Given the description of an element on the screen output the (x, y) to click on. 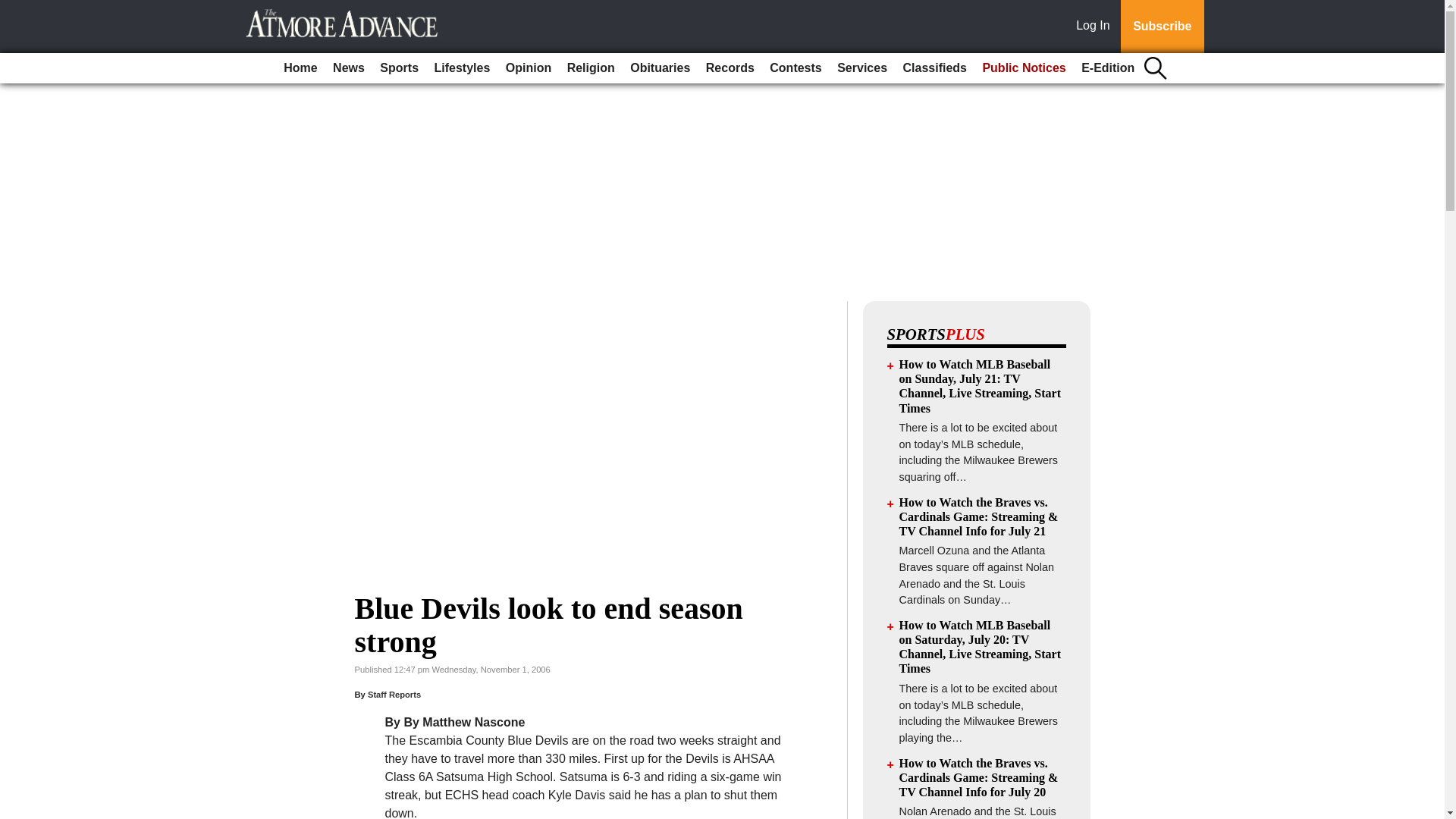
Go (13, 9)
E-Edition (1107, 68)
Public Notices (1023, 68)
Classifieds (934, 68)
Religion (590, 68)
News (348, 68)
Subscribe (1162, 26)
Home (300, 68)
Services (862, 68)
Log In (1095, 26)
Sports (399, 68)
Lifestyles (462, 68)
Contests (794, 68)
Records (730, 68)
